Given the description of an element on the screen output the (x, y) to click on. 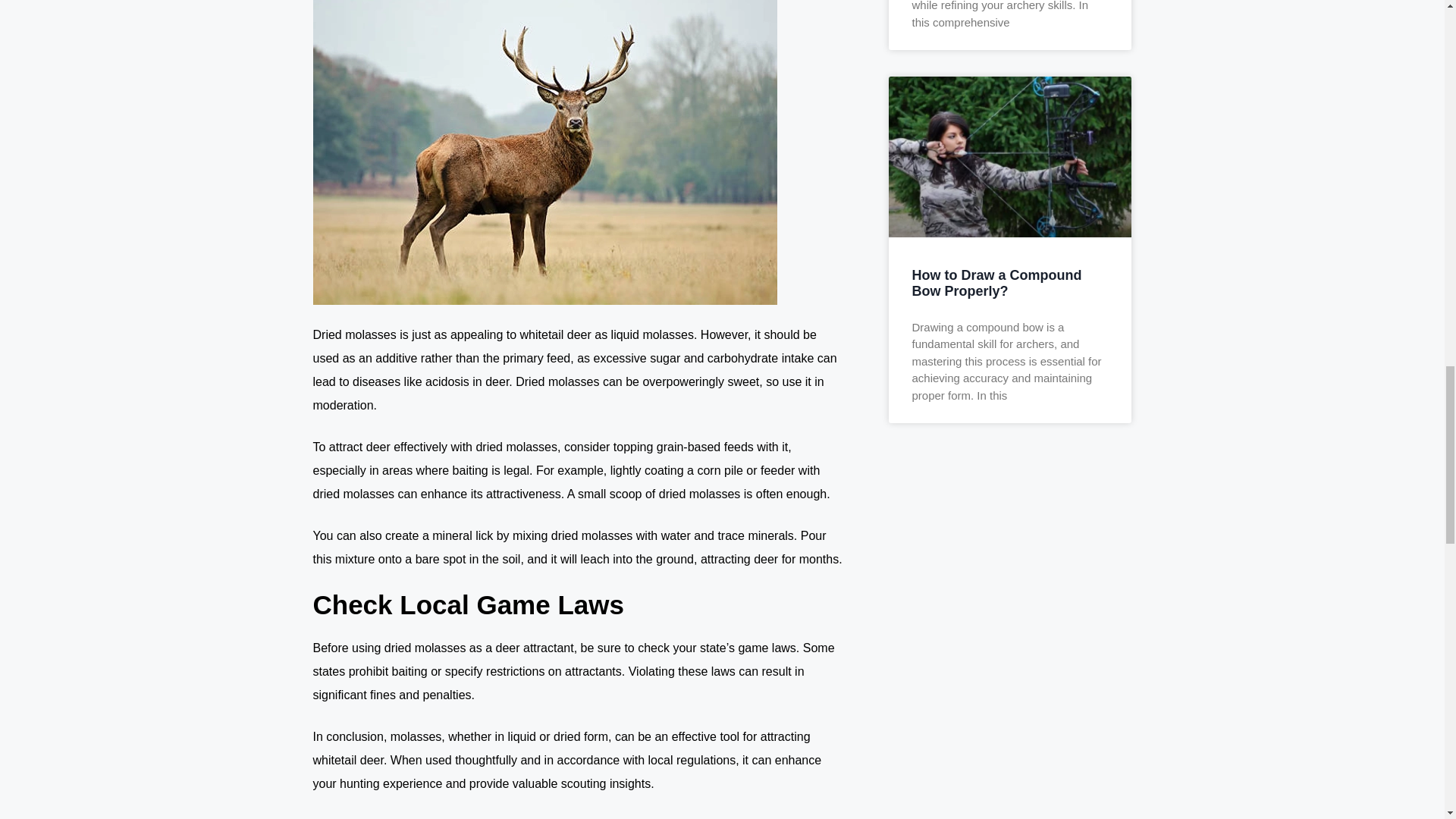
How to Draw a Compound Bow Properly? (996, 283)
